Given the description of an element on the screen output the (x, y) to click on. 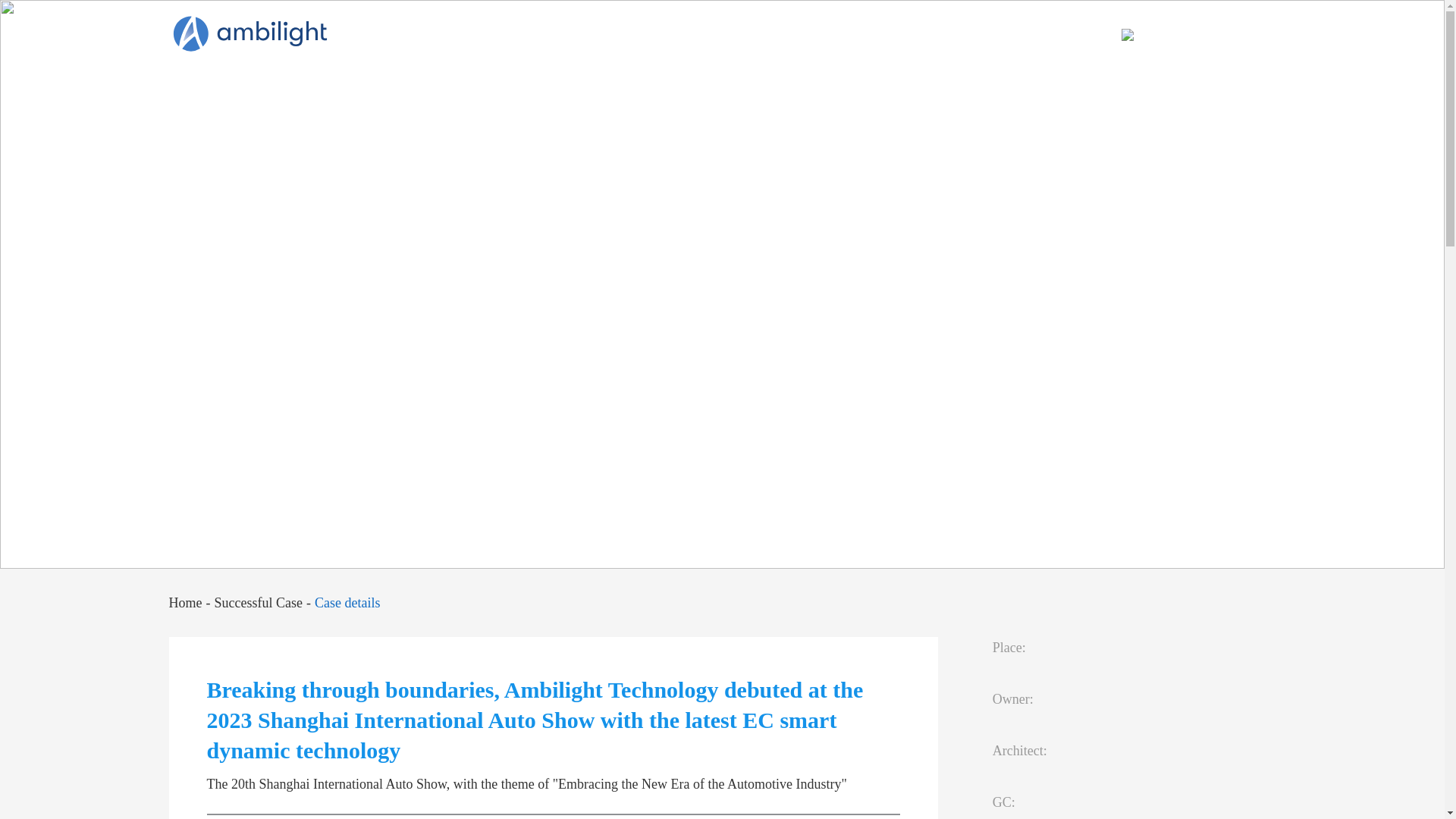
Dynamic Film (788, 45)
Home (612, 45)
News (1044, 45)
Home (185, 602)
Shop Now (1153, 34)
Successful Case (257, 602)
About (690, 45)
Case details (347, 602)
